Given the description of an element on the screen output the (x, y) to click on. 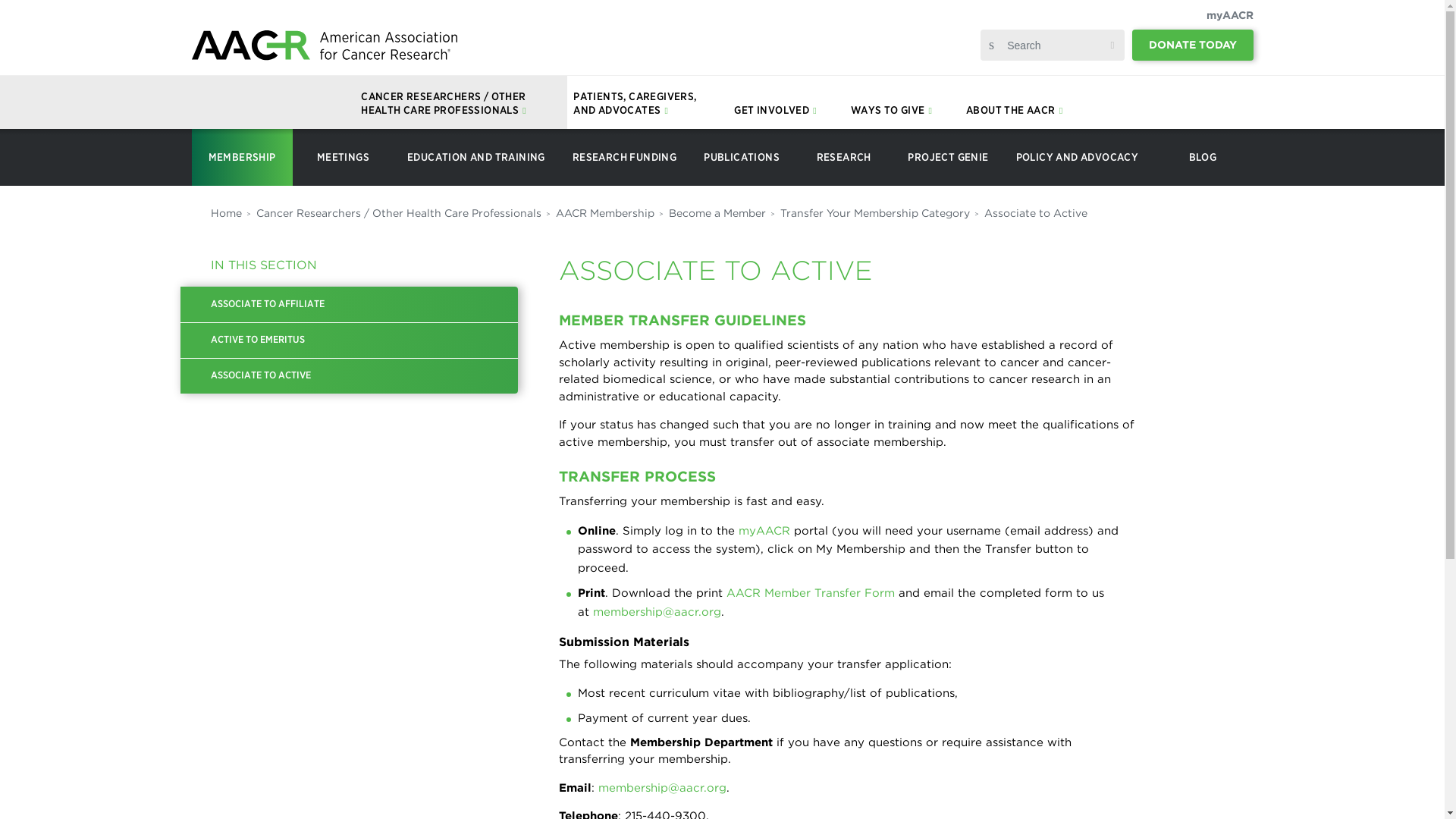
DONATE TODAY (1192, 44)
Search for: (1053, 45)
myAACR (1228, 15)
